Given the description of an element on the screen output the (x, y) to click on. 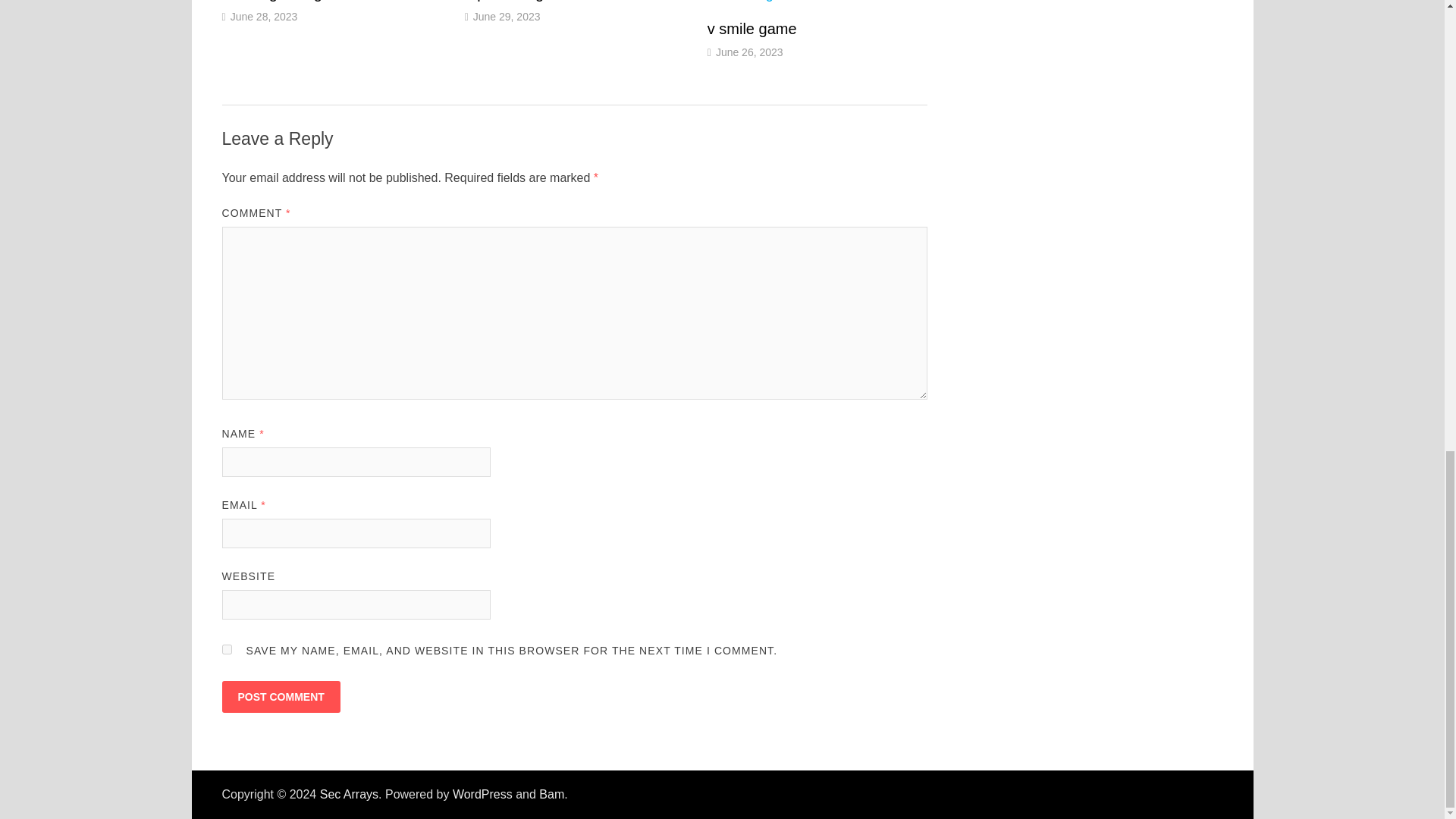
Sec Arrays (349, 793)
June 28, 2023 (264, 15)
Post Comment (280, 696)
WordPress (482, 793)
June 26, 2023 (749, 51)
yes (226, 649)
v smile game (751, 28)
Sec Arrays (349, 793)
Post Comment (280, 696)
Bam (551, 793)
June 29, 2023 (506, 15)
